Given the description of an element on the screen output the (x, y) to click on. 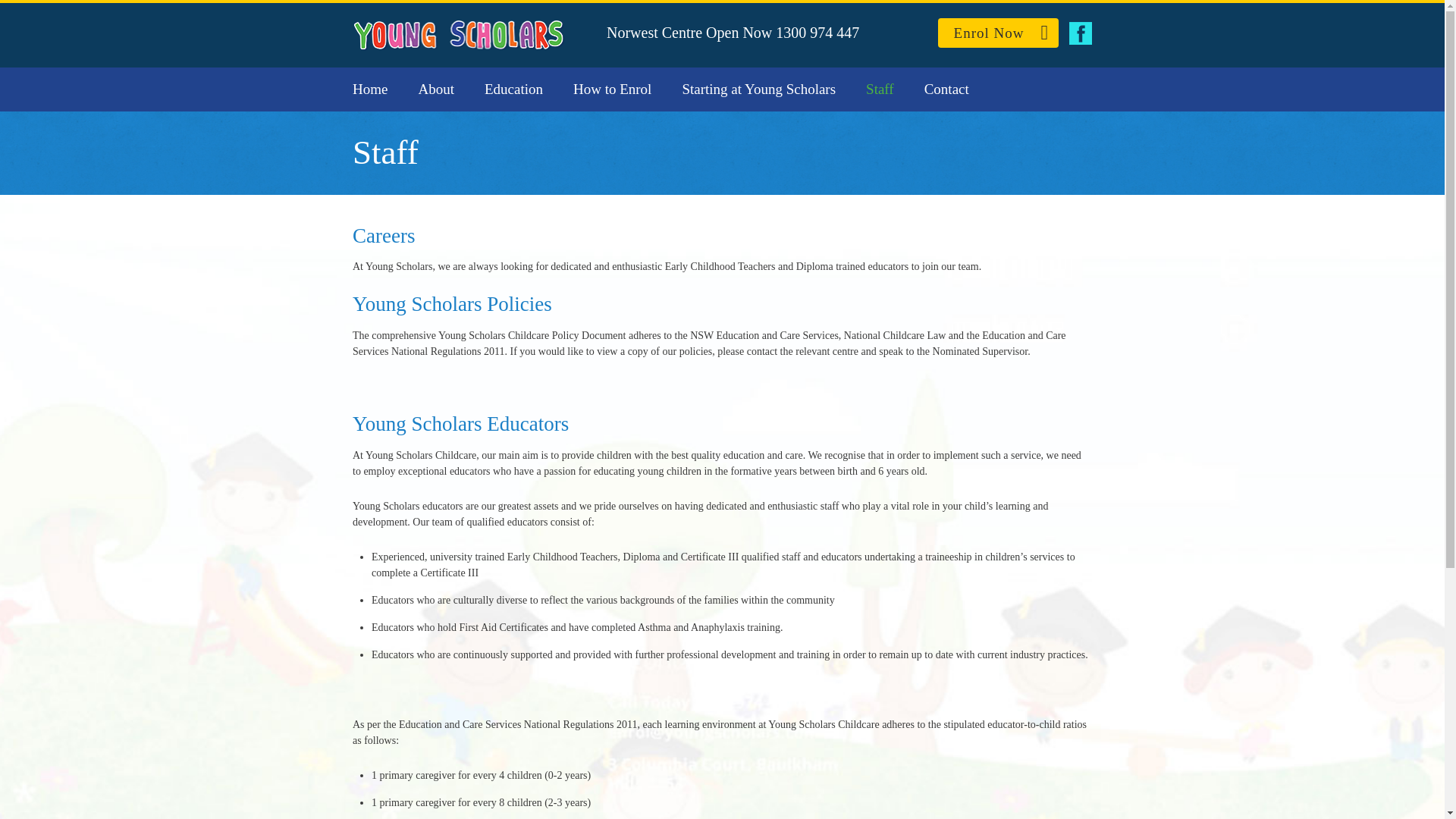
Education (513, 89)
How to Enrol (611, 89)
Contact (946, 89)
Enrol Now (998, 32)
About (435, 89)
Staff (879, 89)
1300 974 447 (817, 32)
Home (369, 89)
Starting at Young Scholars (758, 89)
